Given the description of an element on the screen output the (x, y) to click on. 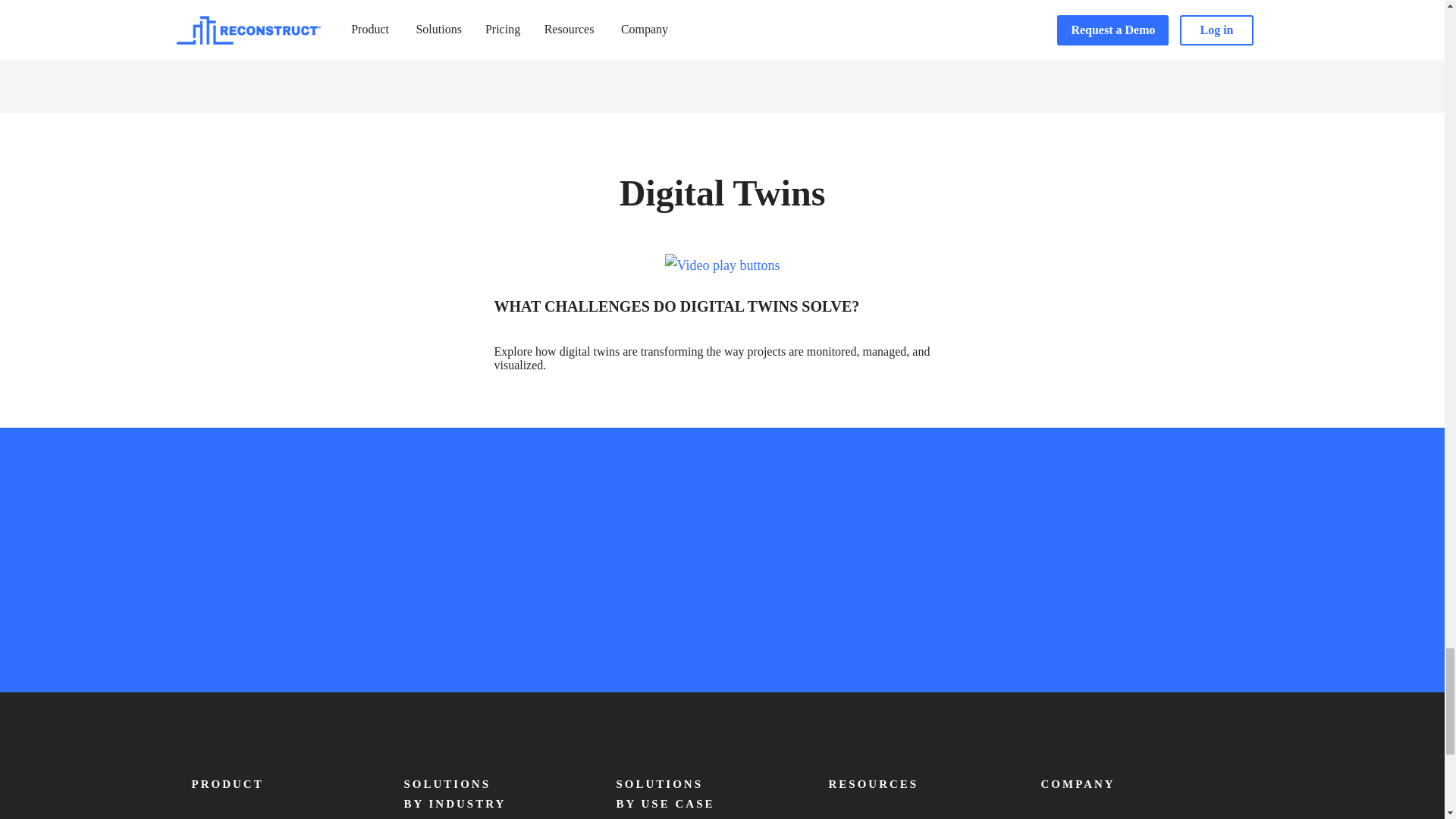
Video play buttons (722, 265)
